Given the description of an element on the screen output the (x, y) to click on. 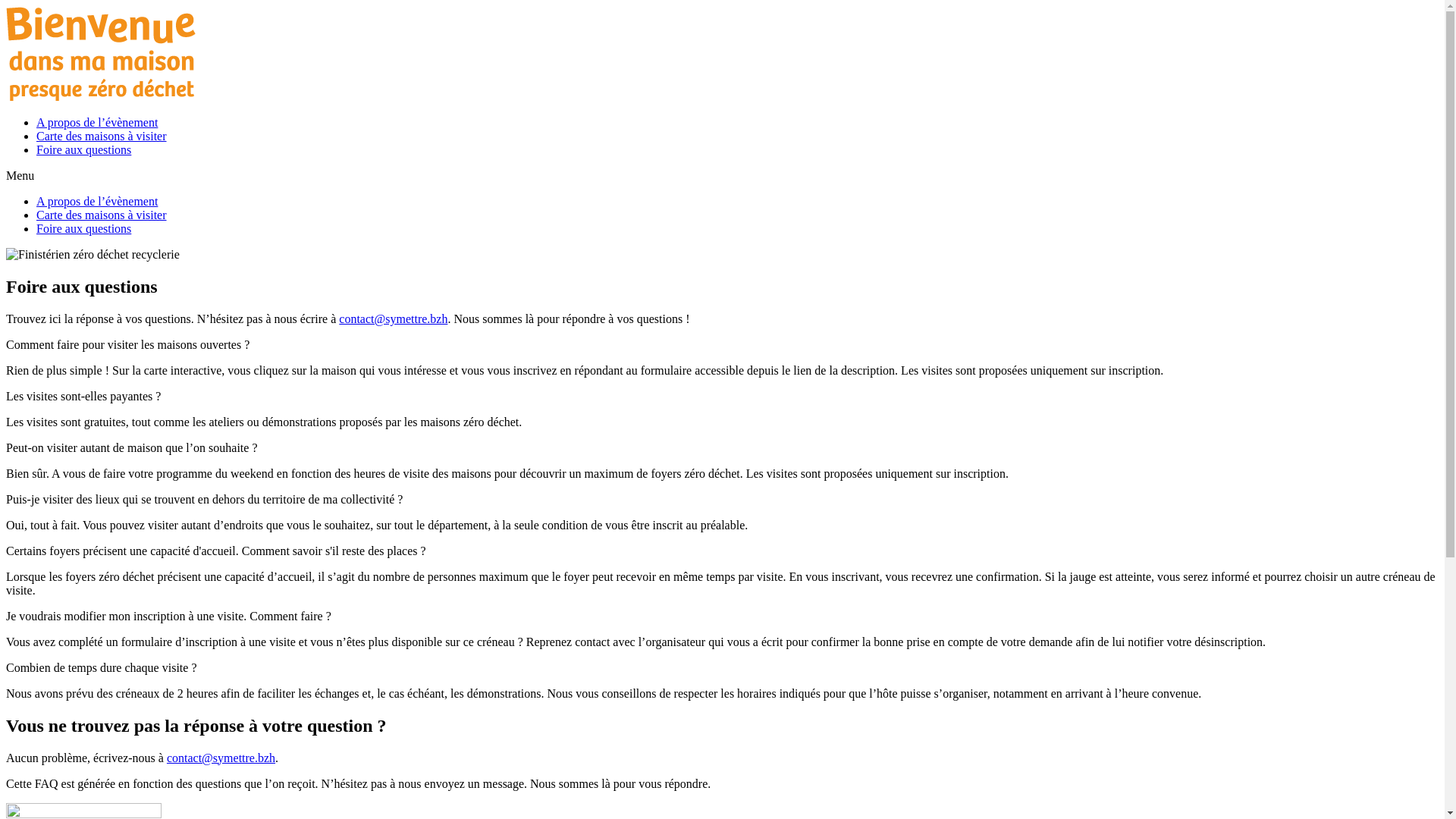
contact@symettre.bzh Element type: text (220, 757)
Comment faire pour visiter les maisons ouvertes ? Element type: text (127, 344)
Combien de temps dure chaque visite ? Element type: text (101, 667)
Foire aux questions Element type: text (83, 149)
Les visites sont-elles payantes ? Element type: text (83, 395)
Aller au contenu Element type: text (5, 5)
Foire aux questions Element type: text (83, 228)
contact@symettre.bzh Element type: text (392, 318)
